Given the description of an element on the screen output the (x, y) to click on. 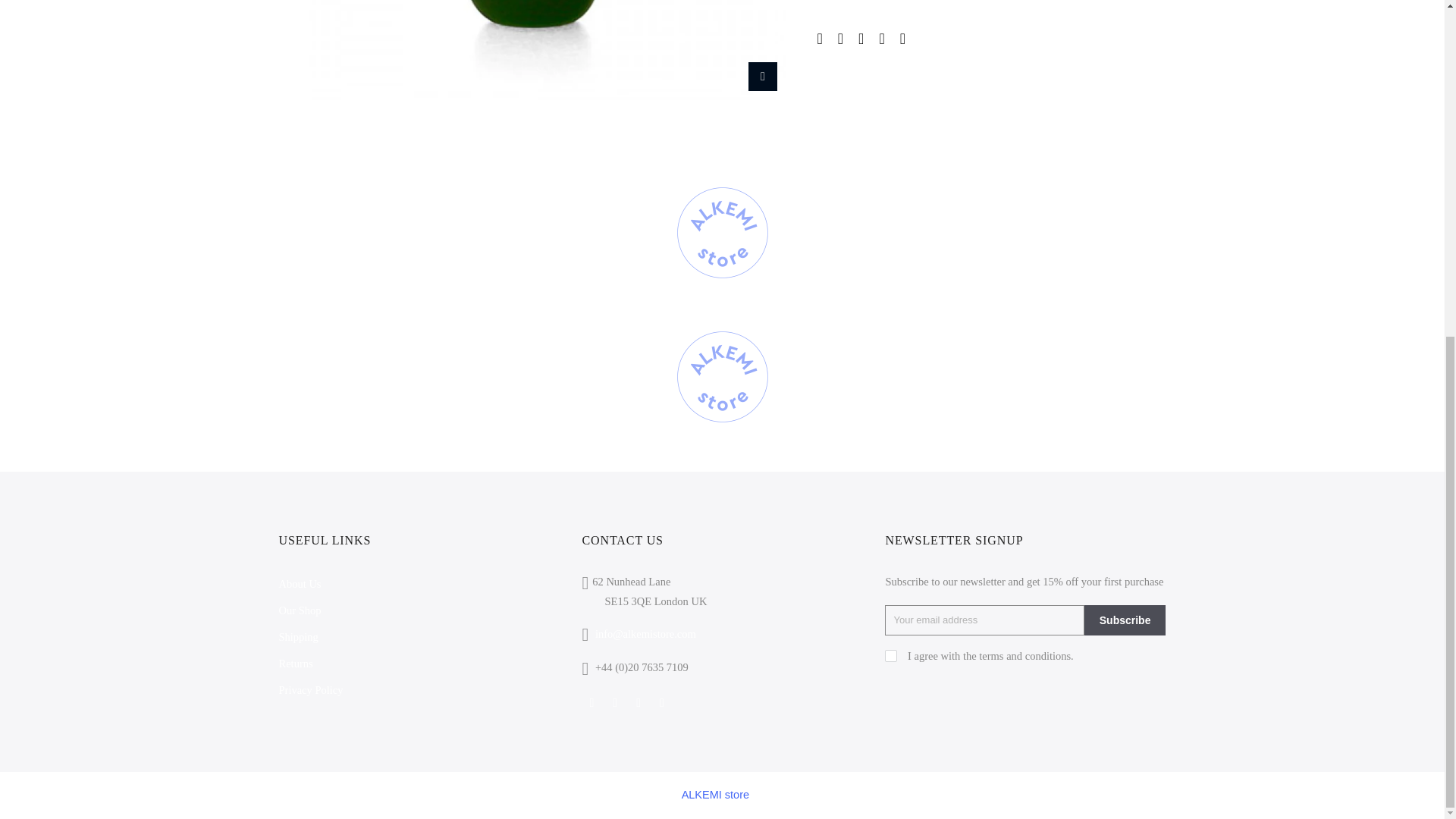
Returns (296, 663)
Privacy Policy (311, 689)
Our Shop (300, 610)
About Us (300, 583)
Shipping (298, 636)
Subscribe (1125, 620)
